Given the description of an element on the screen output the (x, y) to click on. 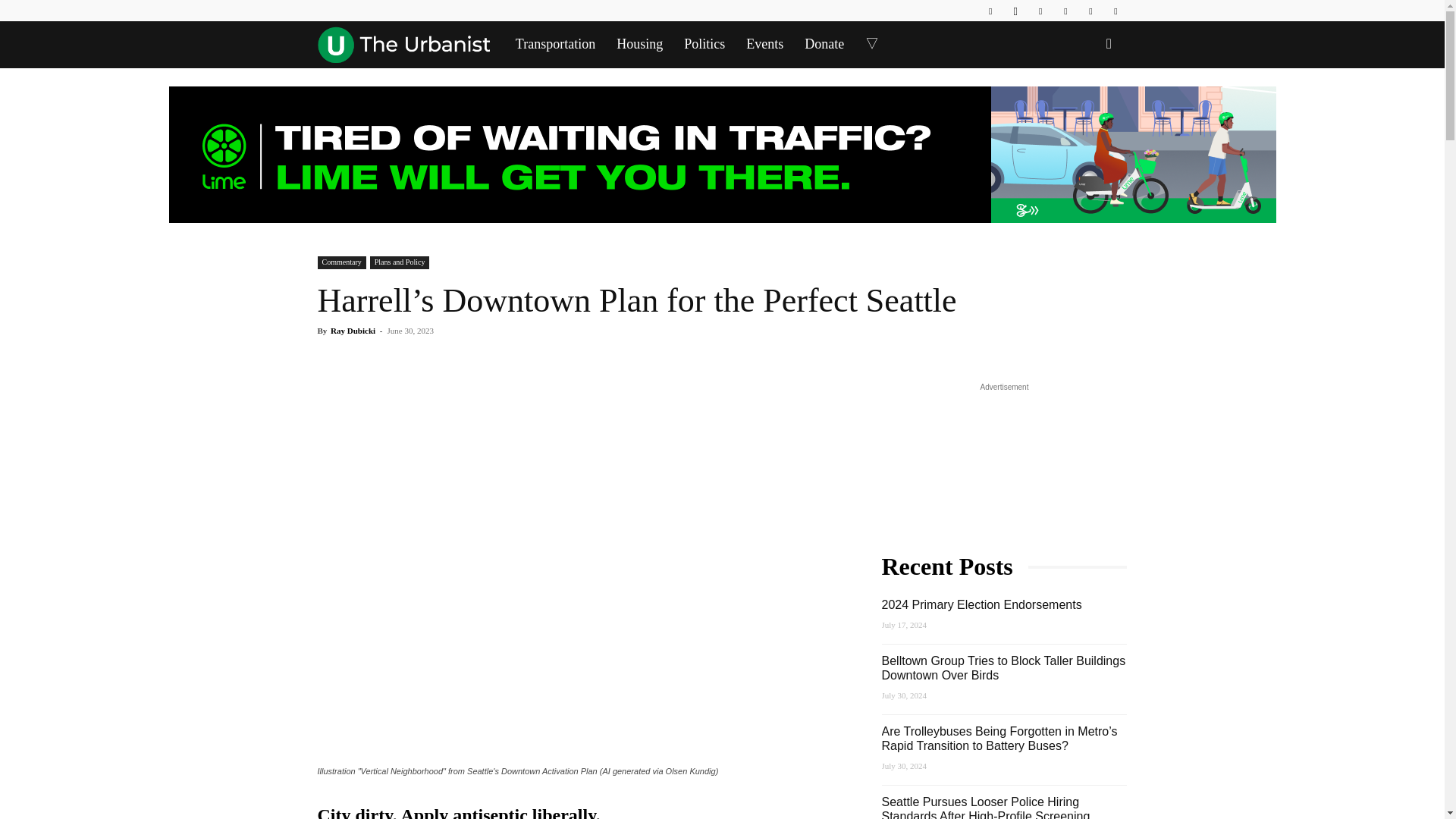
Instagram (1015, 10)
Twitter (1090, 10)
Facebook (989, 10)
Linkedin (1040, 10)
The Urbanist (403, 44)
RSS (1065, 10)
Youtube (1114, 10)
